Given the description of an element on the screen output the (x, y) to click on. 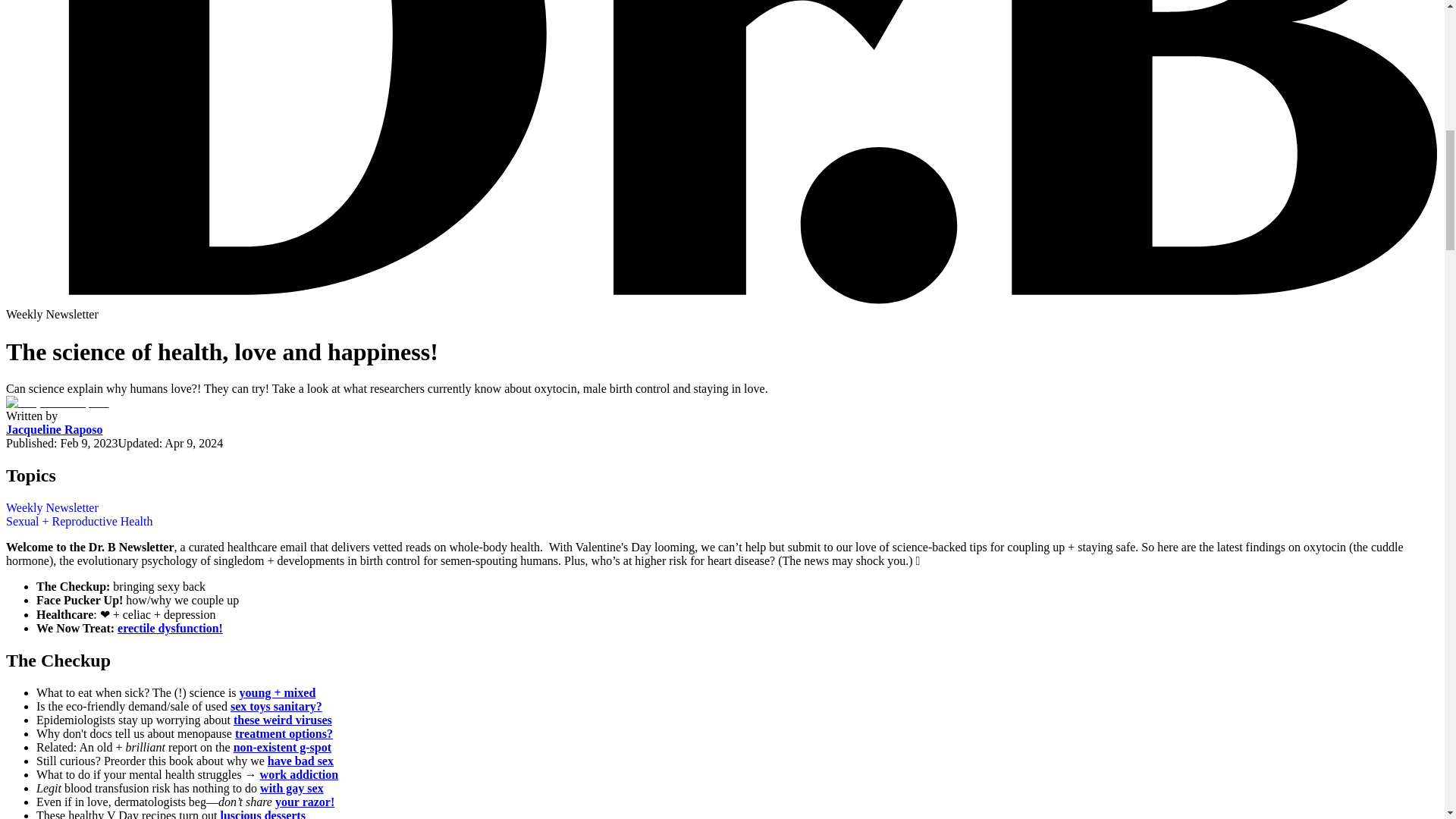
treatment options? (283, 733)
luscious desserts (261, 814)
Jacqueline Raposo (54, 429)
erectile dysfunction! (169, 627)
these weird viruses (281, 719)
sex toys sanitary? (275, 706)
non-existent g-spot (281, 747)
work addiction (299, 774)
your razor! (304, 801)
have bad sex (300, 760)
with gay sex (291, 788)
